Given the description of an element on the screen output the (x, y) to click on. 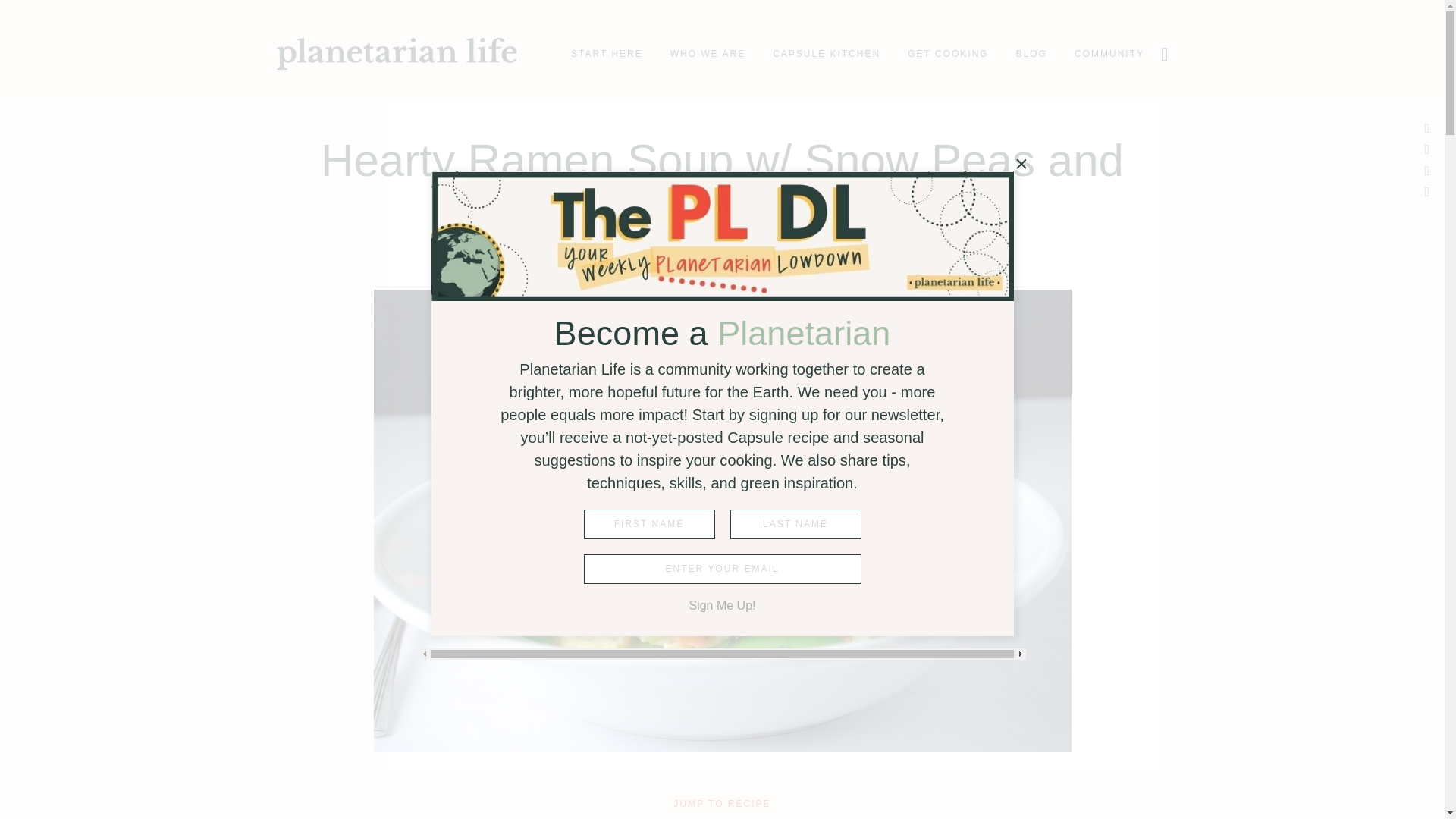
WHO WE ARE (707, 53)
COMMUNITY (1109, 53)
CAPSULE KITCHEN (826, 53)
BLOG (1031, 53)
GET COOKING (947, 53)
START HERE (606, 53)
